Given the description of an element on the screen output the (x, y) to click on. 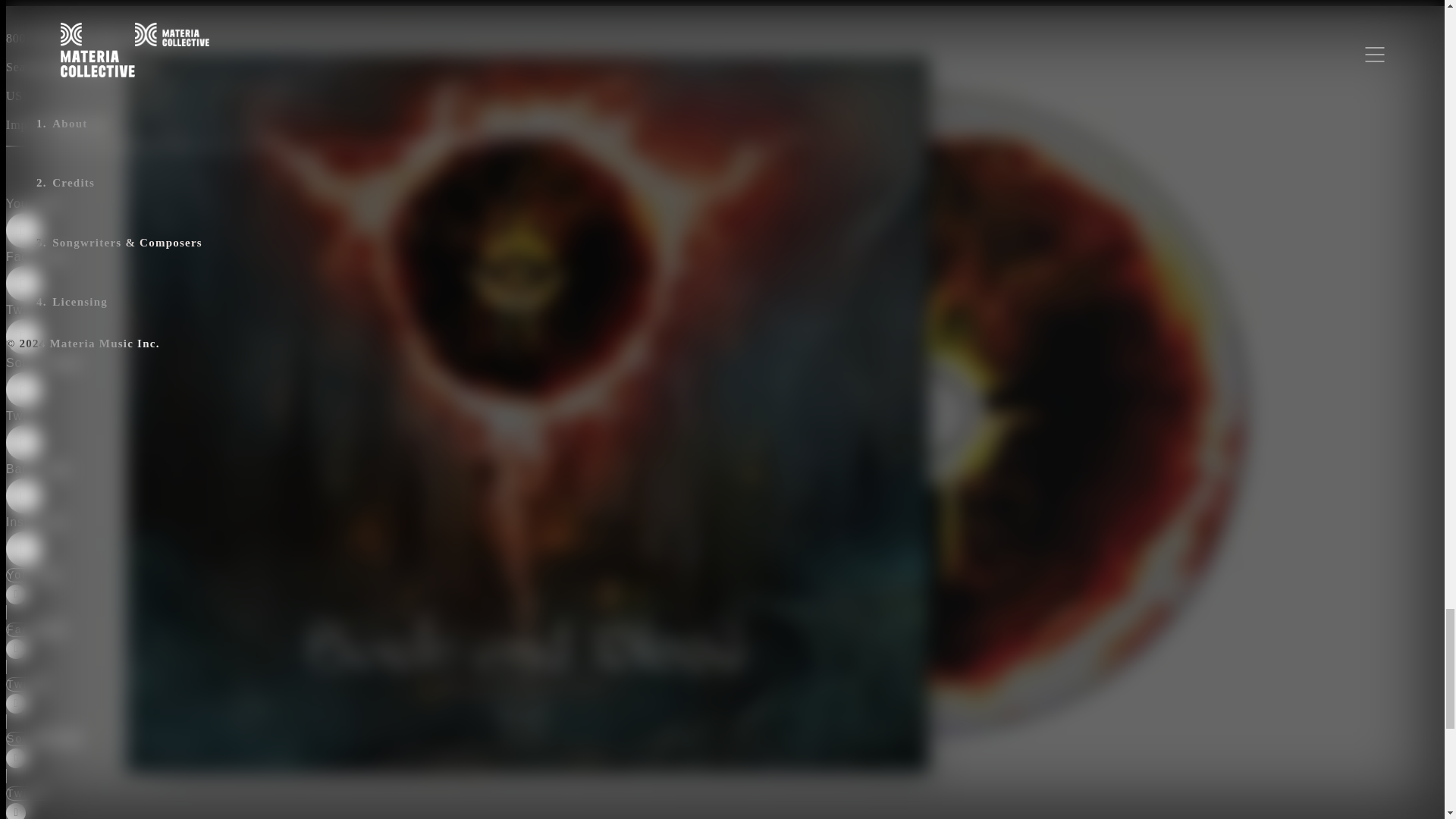
Twitch (263, 442)
Twitter (91, 702)
Facebook (263, 283)
SoundCloud (91, 757)
YouTube (263, 229)
Twitter (263, 336)
Instagram (263, 540)
SoundCloud (263, 389)
Twitch (91, 802)
YouTube (91, 593)
Bandcamp (263, 495)
Facebook (91, 648)
